Given the description of an element on the screen output the (x, y) to click on. 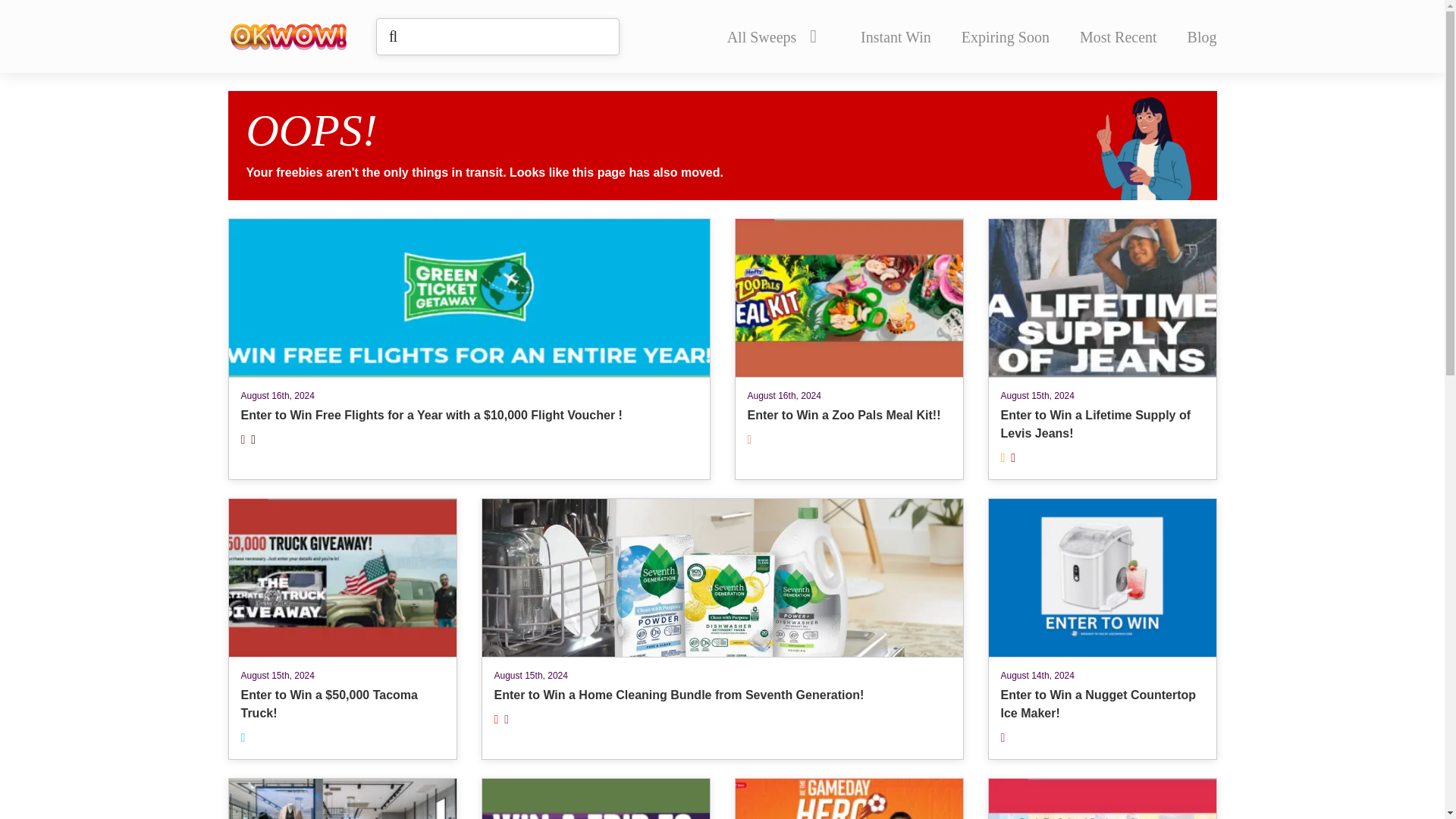
Expiring Soon (1004, 36)
Instant Win (895, 36)
Most Recent (1118, 36)
All Sweeps (771, 36)
